Given the description of an element on the screen output the (x, y) to click on. 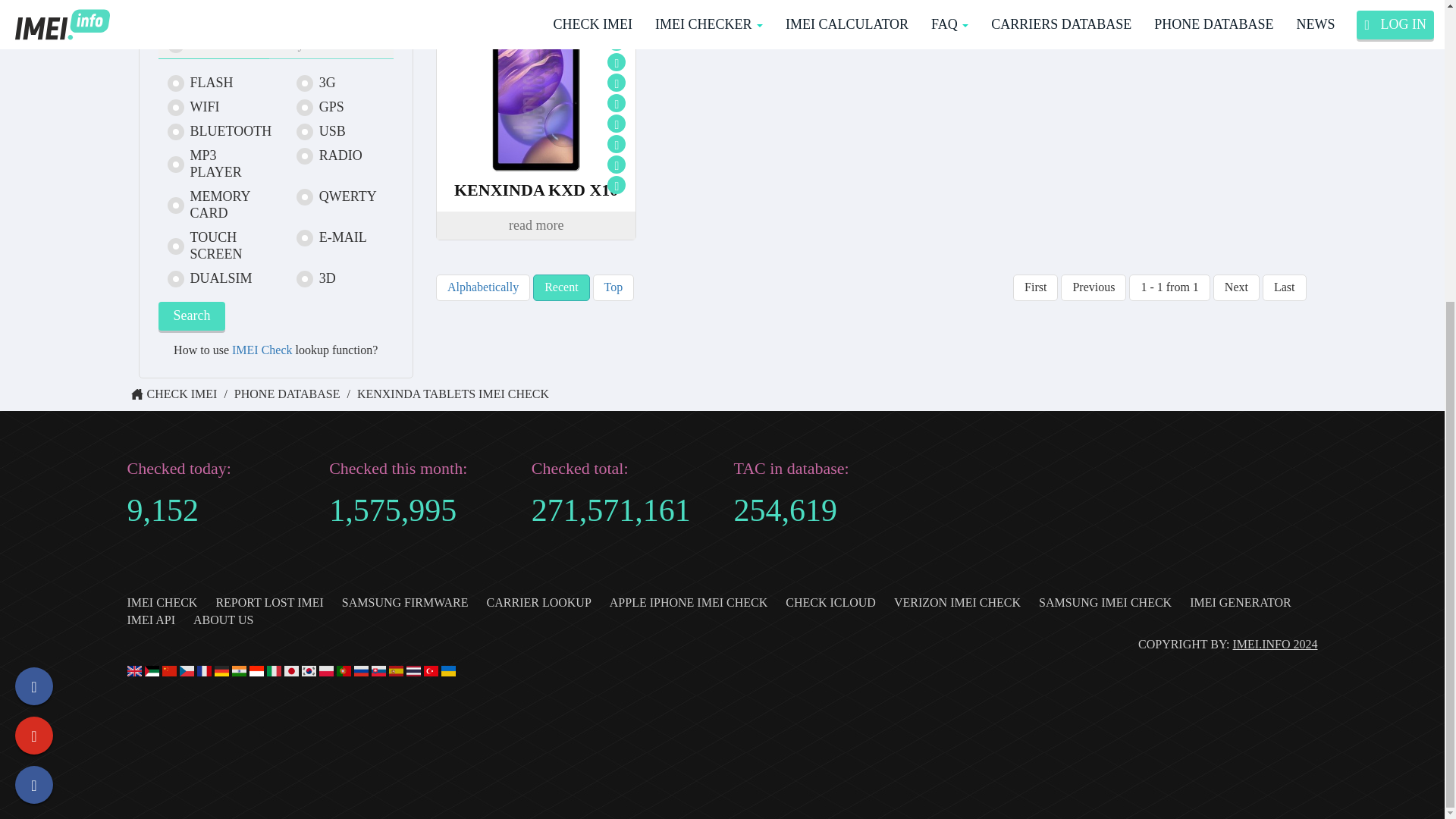
Indonesian (255, 670)
English (134, 670)
Italiano (273, 670)
Deutsch (221, 670)
KENXINDA KXD X10 (535, 189)
